Given the description of an element on the screen output the (x, y) to click on. 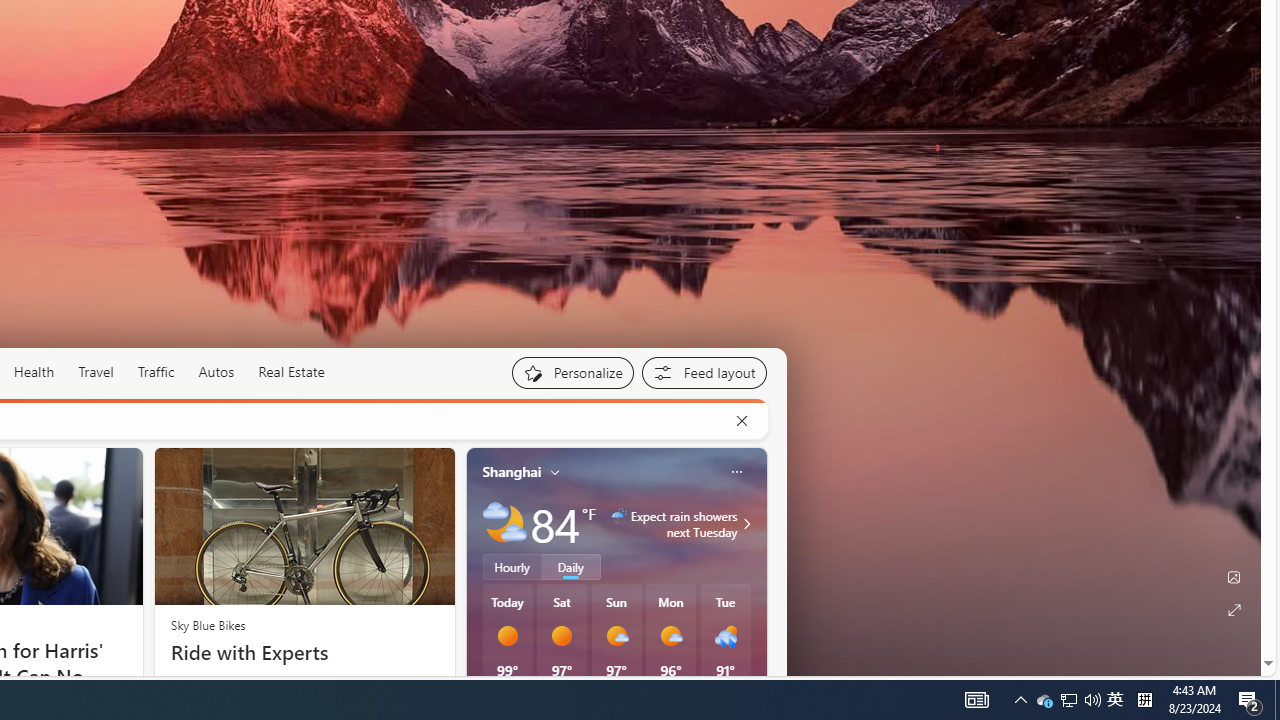
Partly cloudy (504, 523)
Traffic (155, 372)
Hourly (511, 566)
Sky Blue Bikes (207, 624)
Traffic (155, 371)
Daily (571, 566)
Sunny (561, 636)
Rain showers (725, 636)
Travel (95, 371)
My location (555, 471)
Travel (95, 372)
